Given the description of an element on the screen output the (x, y) to click on. 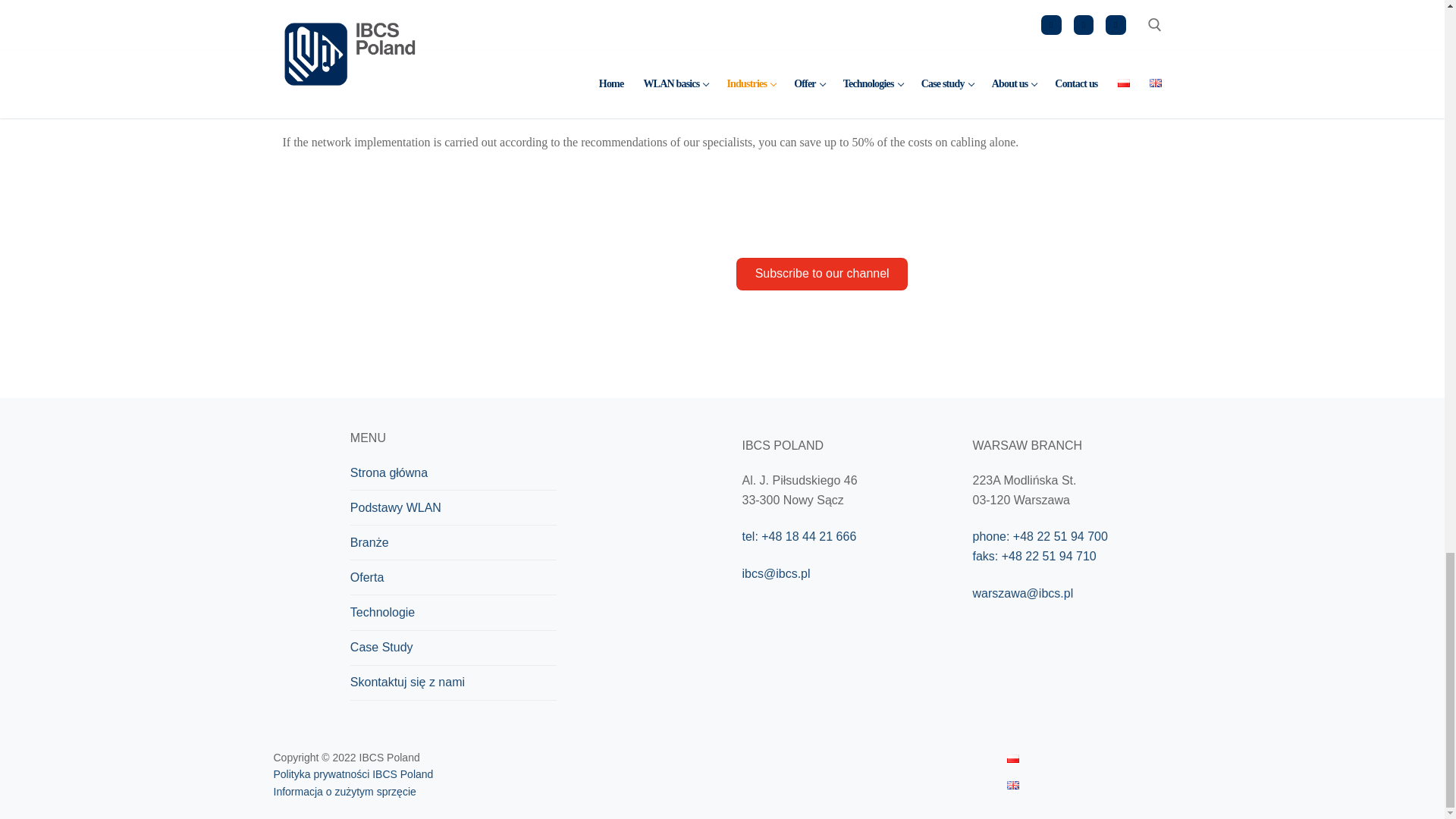
Polski (1013, 758)
English (1013, 785)
